Given the description of an element on the screen output the (x, y) to click on. 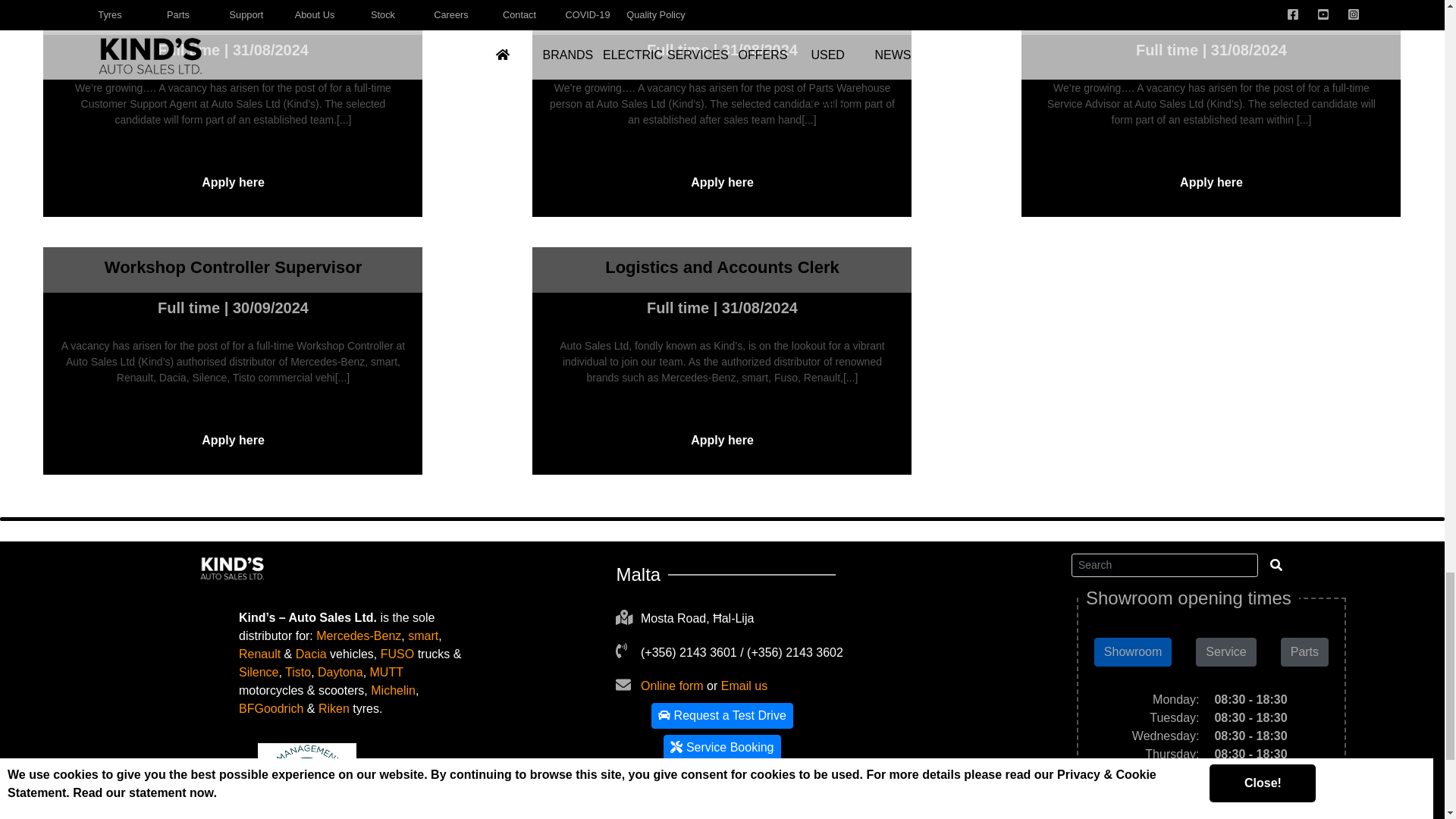
Renault (259, 653)
Apply here (232, 440)
Apply here (1210, 182)
Silence (258, 671)
Apply here (232, 182)
FUSO (396, 653)
Dacia (310, 653)
Apply here (721, 440)
Mercedes-Benz (358, 635)
Apply here (721, 182)
